Given the description of an element on the screen output the (x, y) to click on. 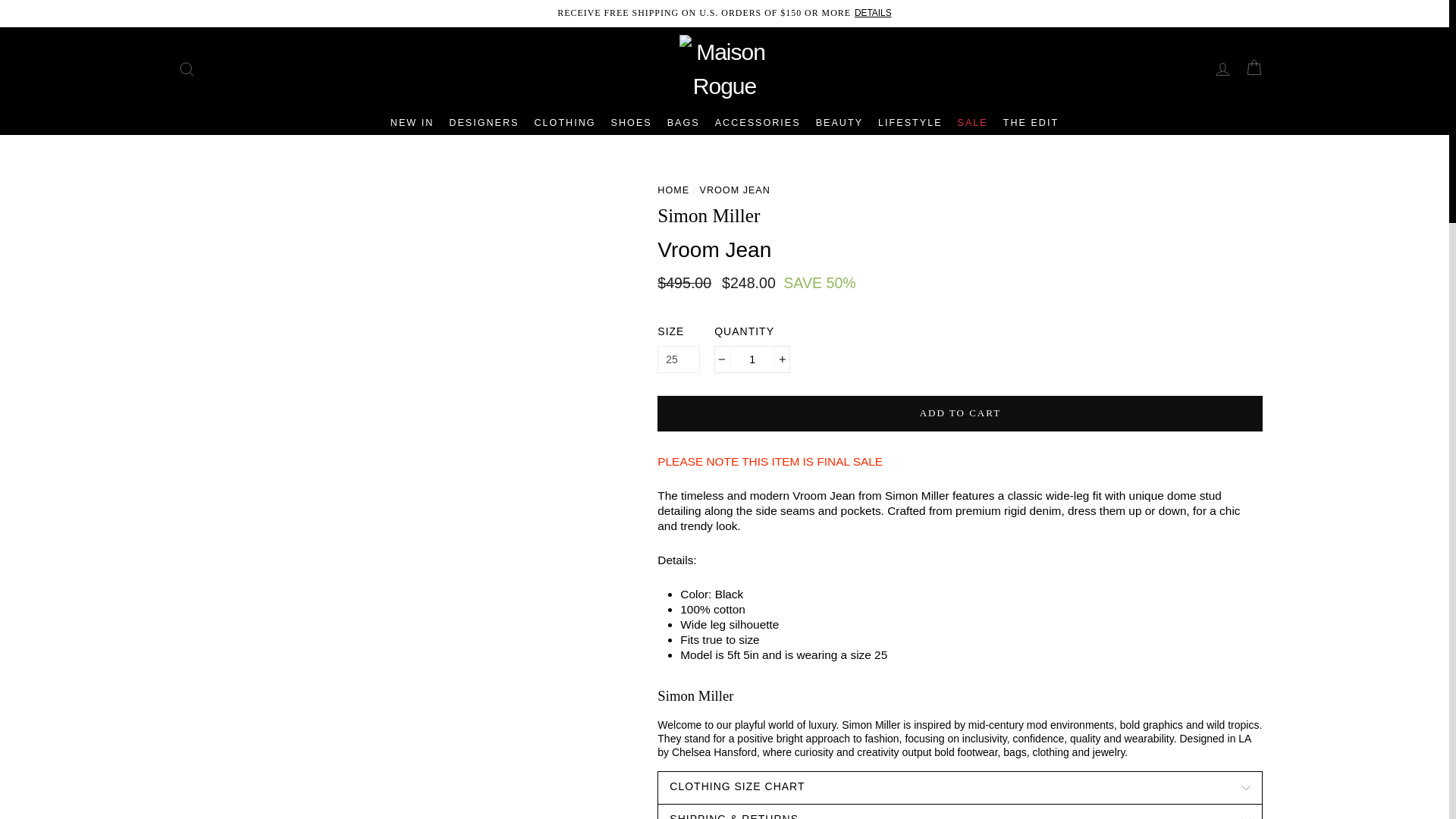
Back to the frontpage (673, 190)
1 (752, 359)
